Given the description of an element on the screen output the (x, y) to click on. 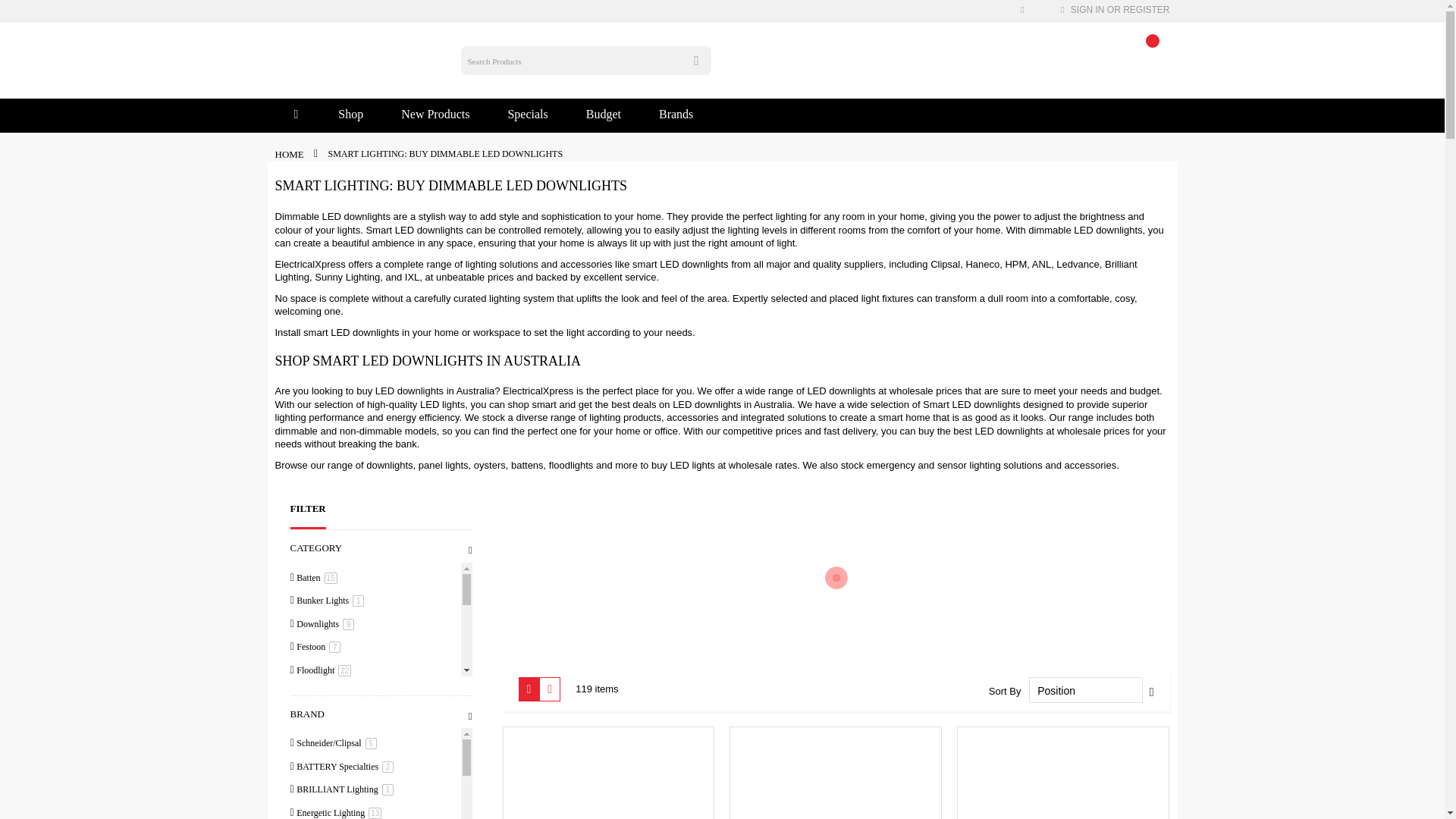
Floodlight 22
item Element type: text (324, 670)
Fluros 7
item Element type: text (316, 692)
MY CART Element type: text (1147, 51)
HOME Element type: text (290, 154)
SEARCH Element type: text (696, 60)
Bunker Lights 1
item Element type: text (330, 600)
Energetic Lighting 13
item Element type: text (339, 812)
BRILLIANT Lighting 1
item Element type: text (345, 789)
SIGN IN OR REGISTER Element type: text (1120, 9)
Festoon 7
item Element type: text (318, 646)
ElectricalXpress Element type: hover (344, 53)
Miscelanous 6
item Element type: text (327, 785)
New Products Element type: text (435, 115)
Lamps 11
item Element type: text (317, 762)
Specials Element type: text (527, 115)
Downlights 9
item Element type: text (325, 623)
Batten 15
item Element type: text (317, 577)
List Element type: text (549, 689)
Oyster 5
item Element type: text (316, 808)
Garden Lighting 1
item Element type: text (334, 716)
BATTERY Specialties 2
item Element type: text (345, 766)
Set Descending Direction Element type: text (1151, 692)
ElectricalXpress Element type: text (309, 263)
Brands Element type: text (676, 115)
Budget Element type: text (603, 115)
Schneider/Clipsal 5
item Element type: text (336, 742)
Shop Element type: text (350, 115)
Highbay 3
item Element type: text (320, 739)
